Given the description of an element on the screen output the (x, y) to click on. 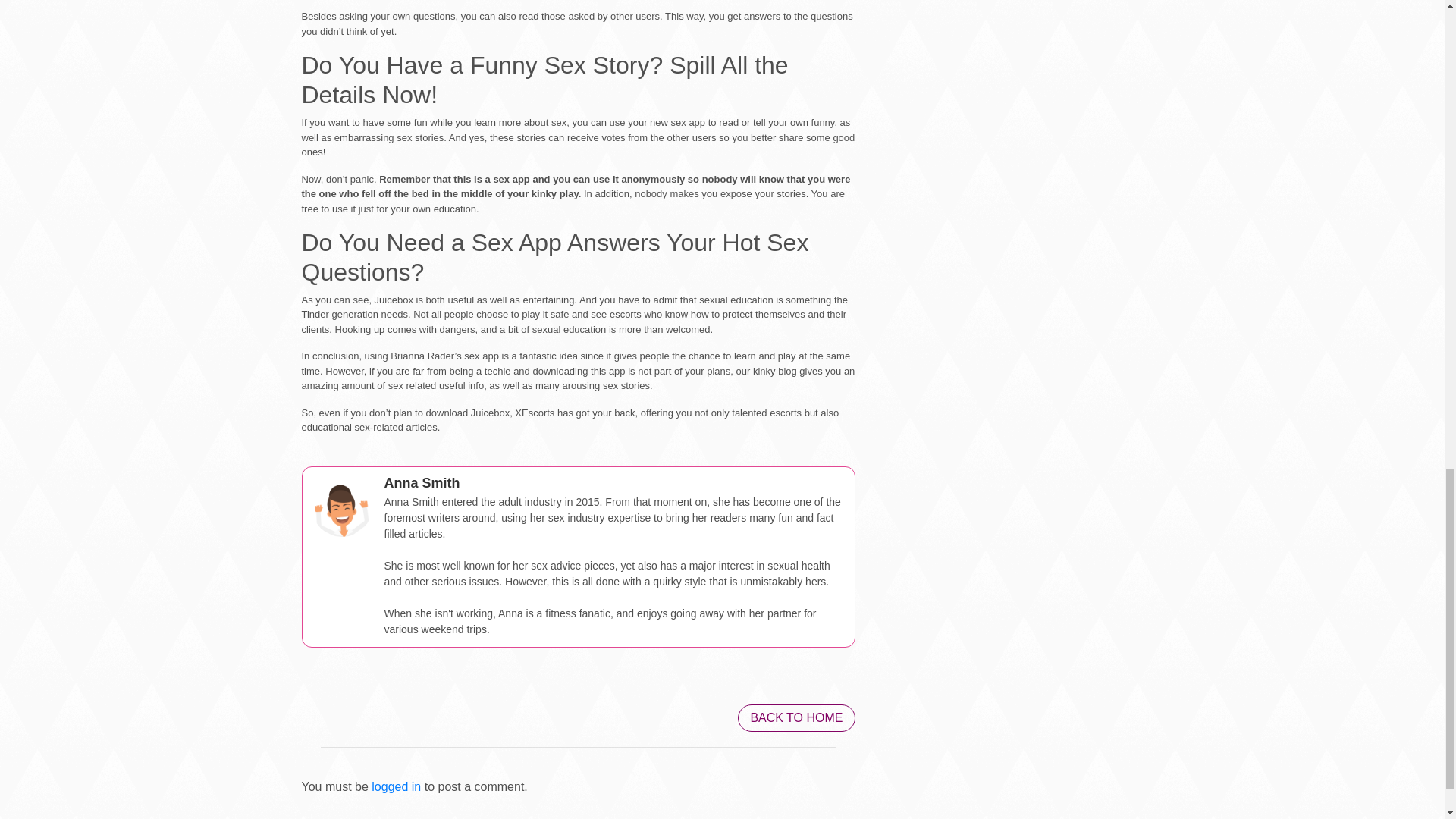
Anna Smith (422, 482)
Anna Smith (341, 506)
BACK TO HOME (796, 718)
logged in (395, 786)
